Given the description of an element on the screen output the (x, y) to click on. 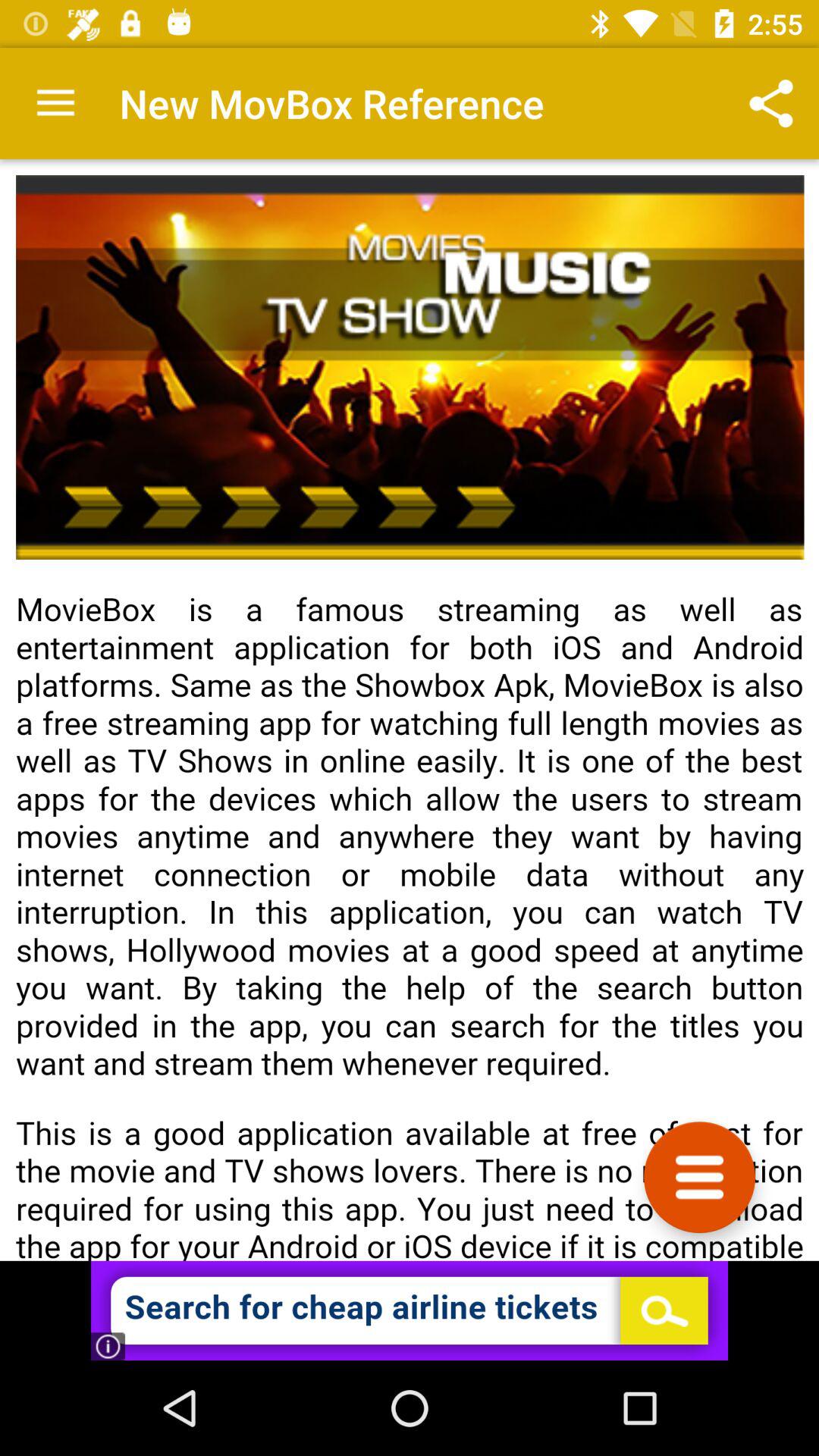
advertisement (409, 1310)
